Given the description of an element on the screen output the (x, y) to click on. 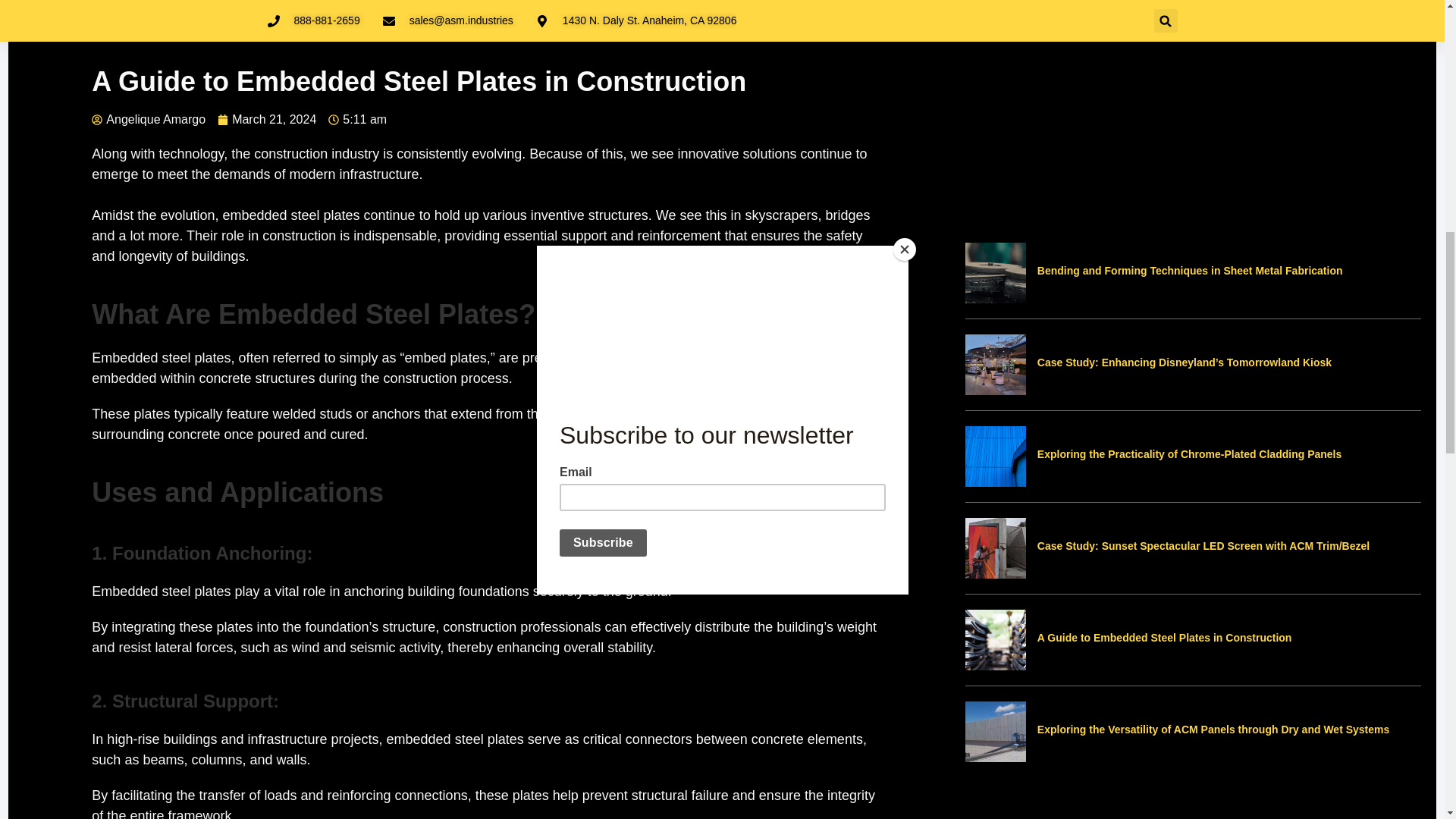
A Guide to Embedded Steel Plates in Construction (1164, 637)
Exploring the Practicality of Chrome-Plated Cladding Panels (995, 454)
Bending and Forming Techniques in Sheet Metal Fabrication (995, 271)
Bending and Forming Techniques in Sheet Metal Fabrication (1189, 270)
A Guide to Embedded Steel Plates in Construction (995, 638)
Exploring the Practicality of Chrome-Plated Cladding Panels (1188, 453)
